Given the description of an element on the screen output the (x, y) to click on. 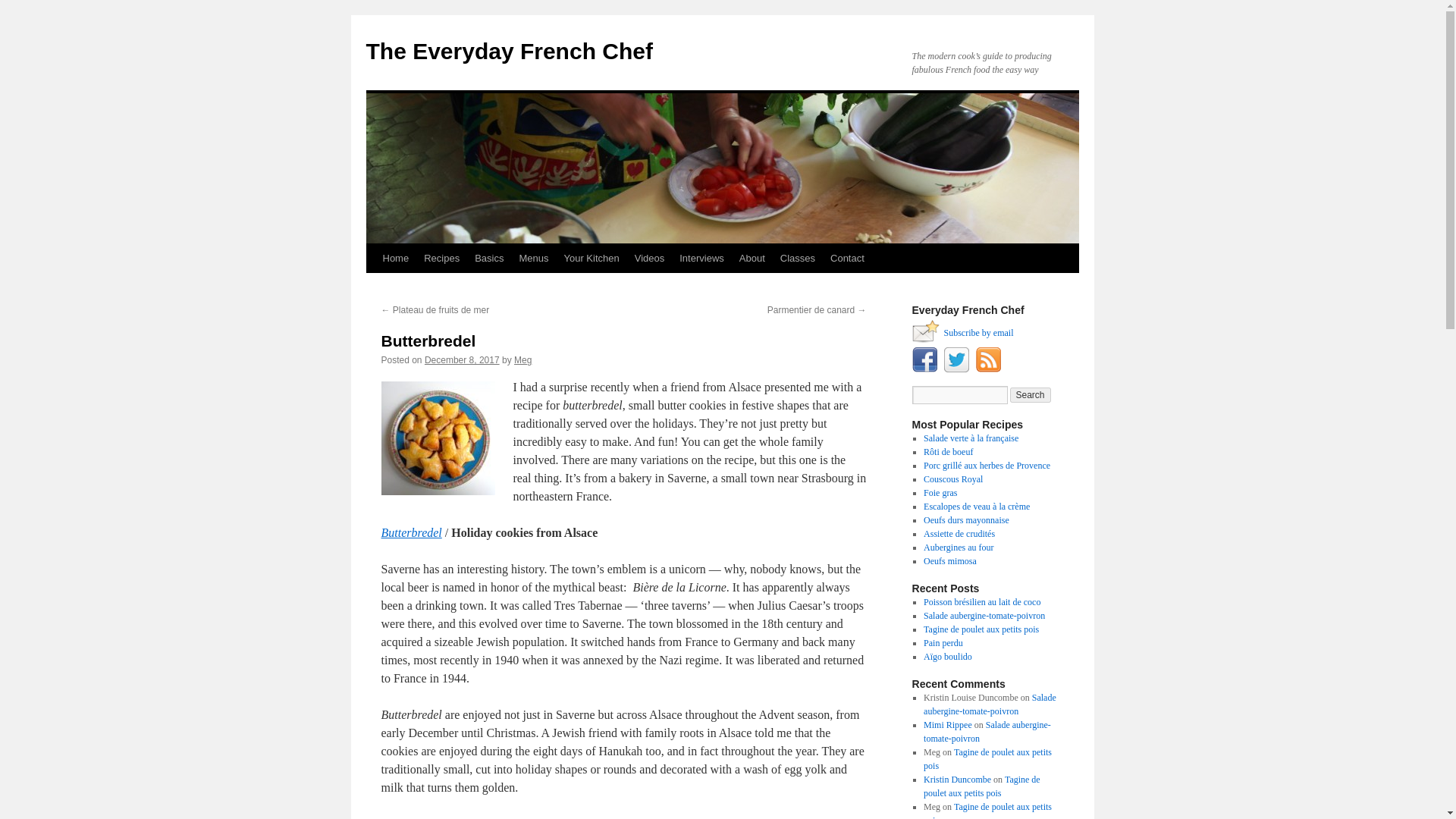
10:24 (462, 359)
Recipes (441, 258)
View all posts by Meg (522, 359)
Search (1030, 394)
The Everyday French Chef (508, 50)
Home (395, 258)
